Given the description of an element on the screen output the (x, y) to click on. 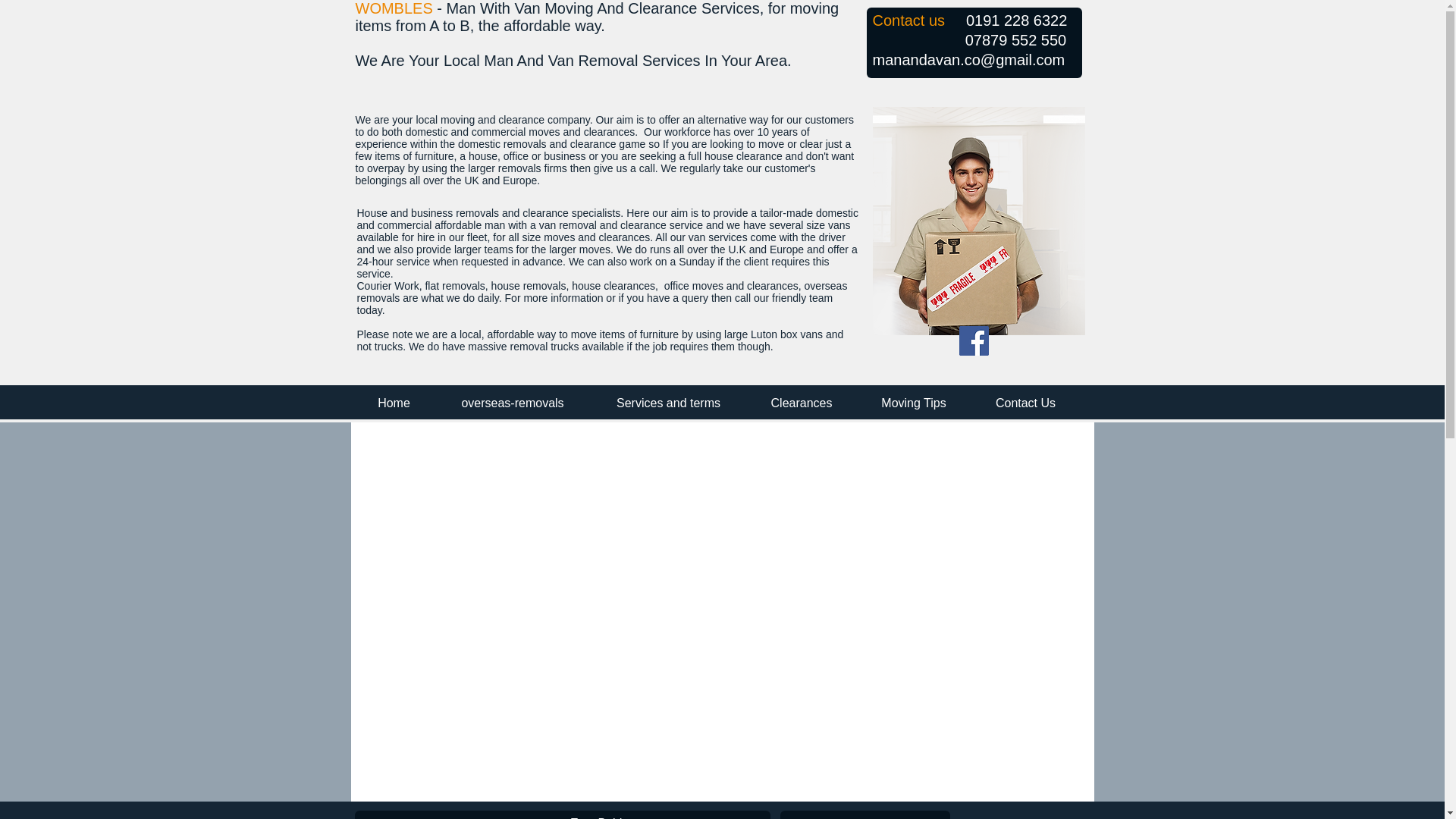
 East Boldon (601, 817)
Home (394, 402)
Clearances (800, 402)
0191 228 6322 (1016, 20)
Contact Us (1025, 402)
overseas-removals (513, 402)
man with van newcastle (978, 220)
07879 552 550 (1015, 39)
Moving Tips (914, 402)
Services and terms (667, 402)
